Given the description of an element on the screen output the (x, y) to click on. 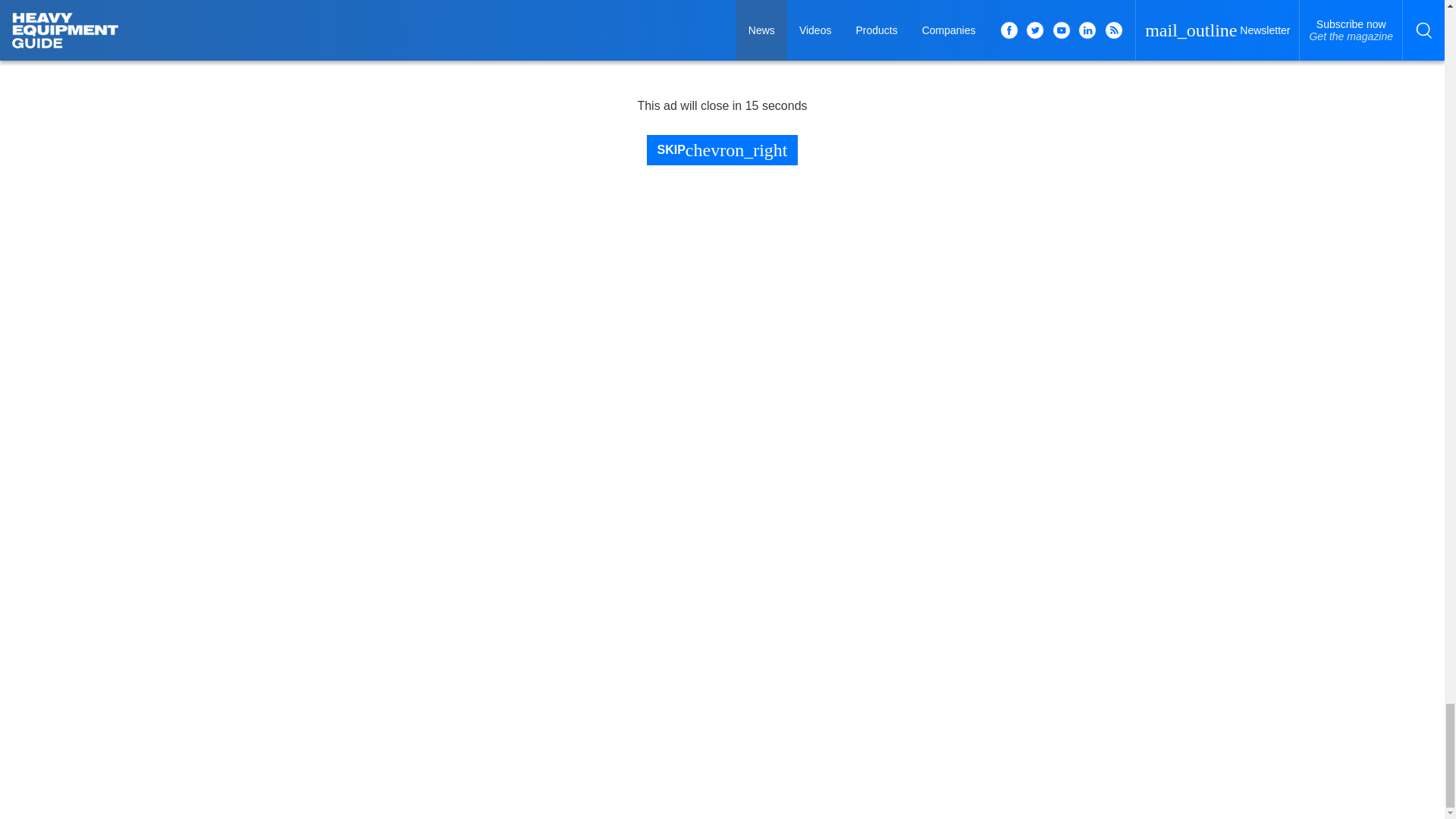
MAGAZINE (268, 313)
VIEW LATEST INDUSTRY NEWS (587, 145)
HOMEPAGE (268, 282)
